Given the description of an element on the screen output the (x, y) to click on. 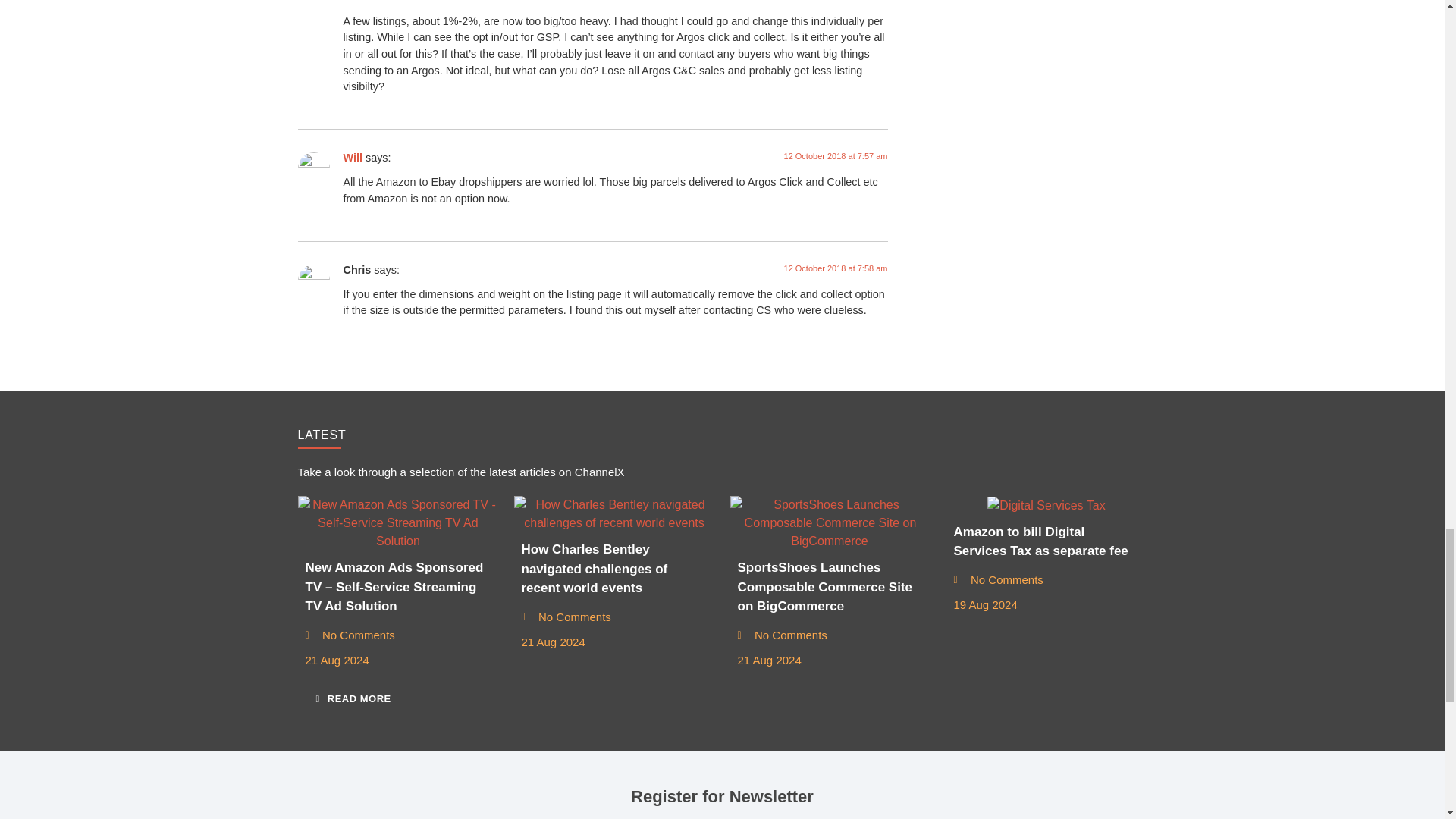
Digital Services Tax (1046, 505)
